Given the description of an element on the screen output the (x, y) to click on. 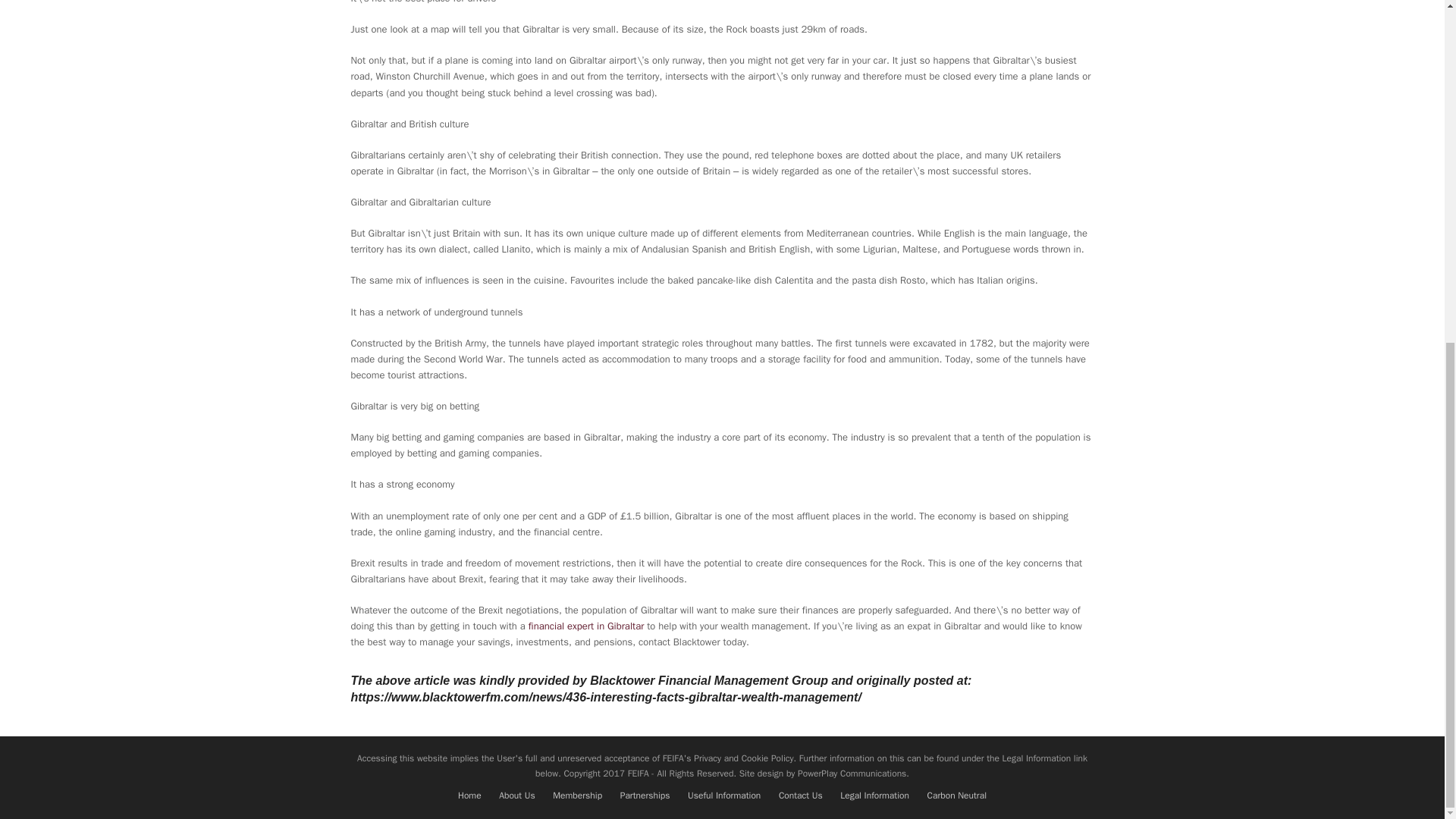
financial expert in Gibraltar (586, 625)
Home (469, 795)
